Given the description of an element on the screen output the (x, y) to click on. 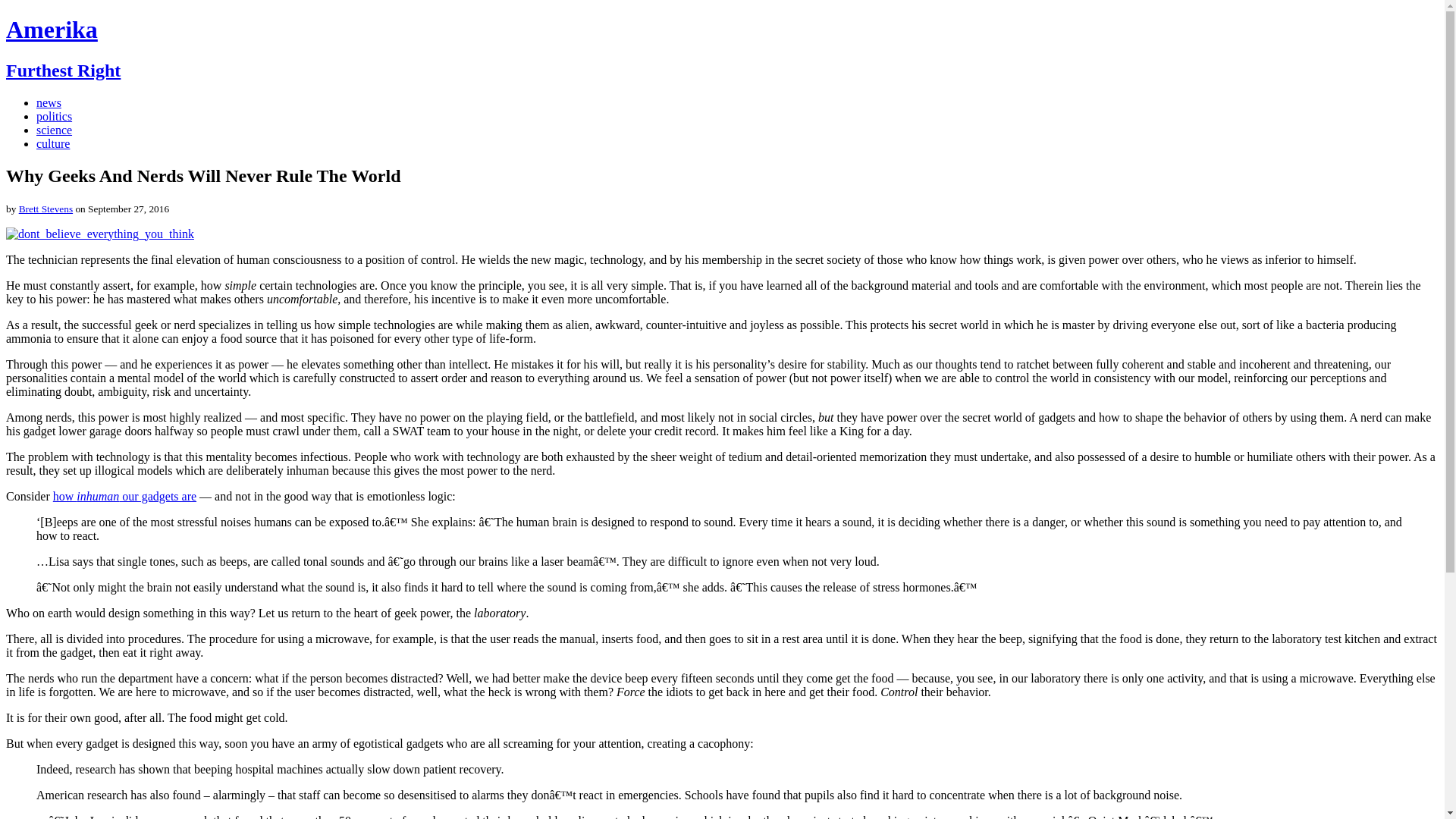
culture (52, 143)
Brett Stevens (45, 208)
how inhuman our gadgets are (124, 495)
science (53, 129)
news (48, 102)
politics (53, 115)
Brett Stevens (45, 208)
